Given the description of an element on the screen output the (x, y) to click on. 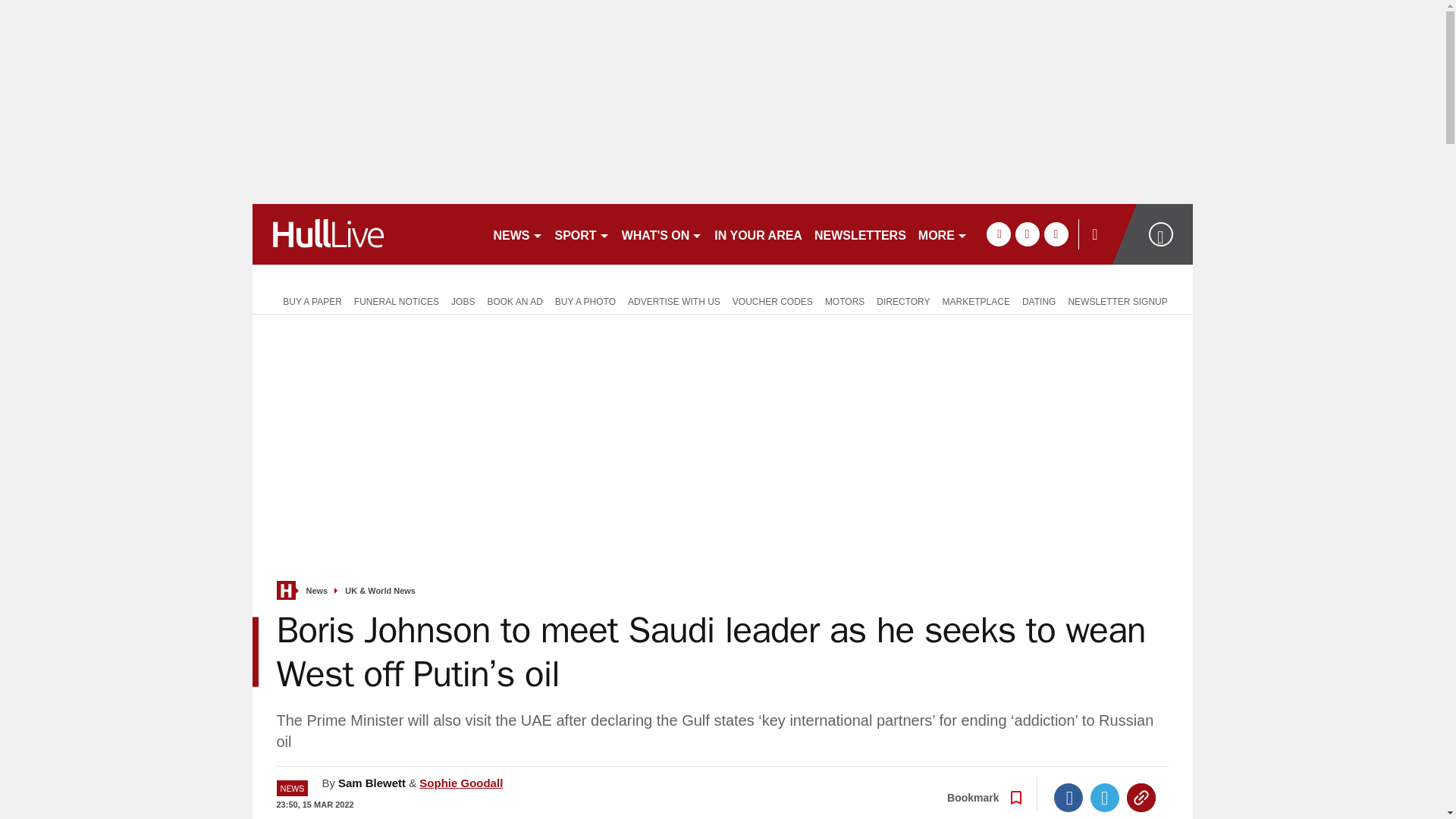
Twitter (1104, 797)
facebook (997, 233)
IN YOUR AREA (757, 233)
SPORT (581, 233)
MORE (943, 233)
twitter (1026, 233)
Facebook (1068, 797)
hulldailymail (365, 233)
instagram (1055, 233)
NEWSLETTERS (860, 233)
